Given the description of an element on the screen output the (x, y) to click on. 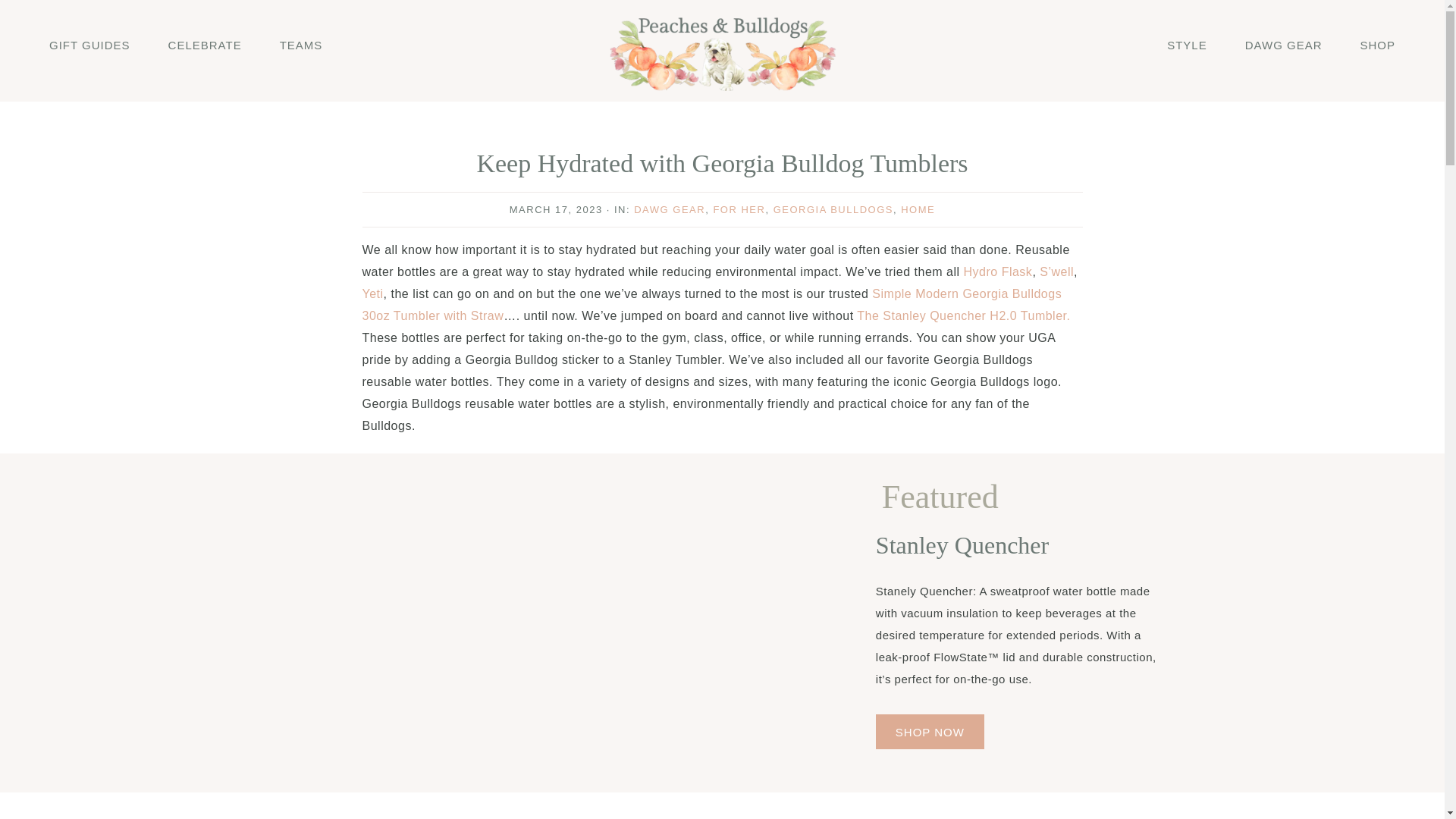
CELEBRATE (204, 43)
DAWG GEAR (1282, 43)
FOR HER (739, 209)
SHOP (1376, 43)
DAWG GEAR (668, 209)
TEAMS (301, 43)
HOME (917, 209)
STYLE (1186, 43)
GEORGIA BULLDOGS (833, 209)
